Given the description of an element on the screen output the (x, y) to click on. 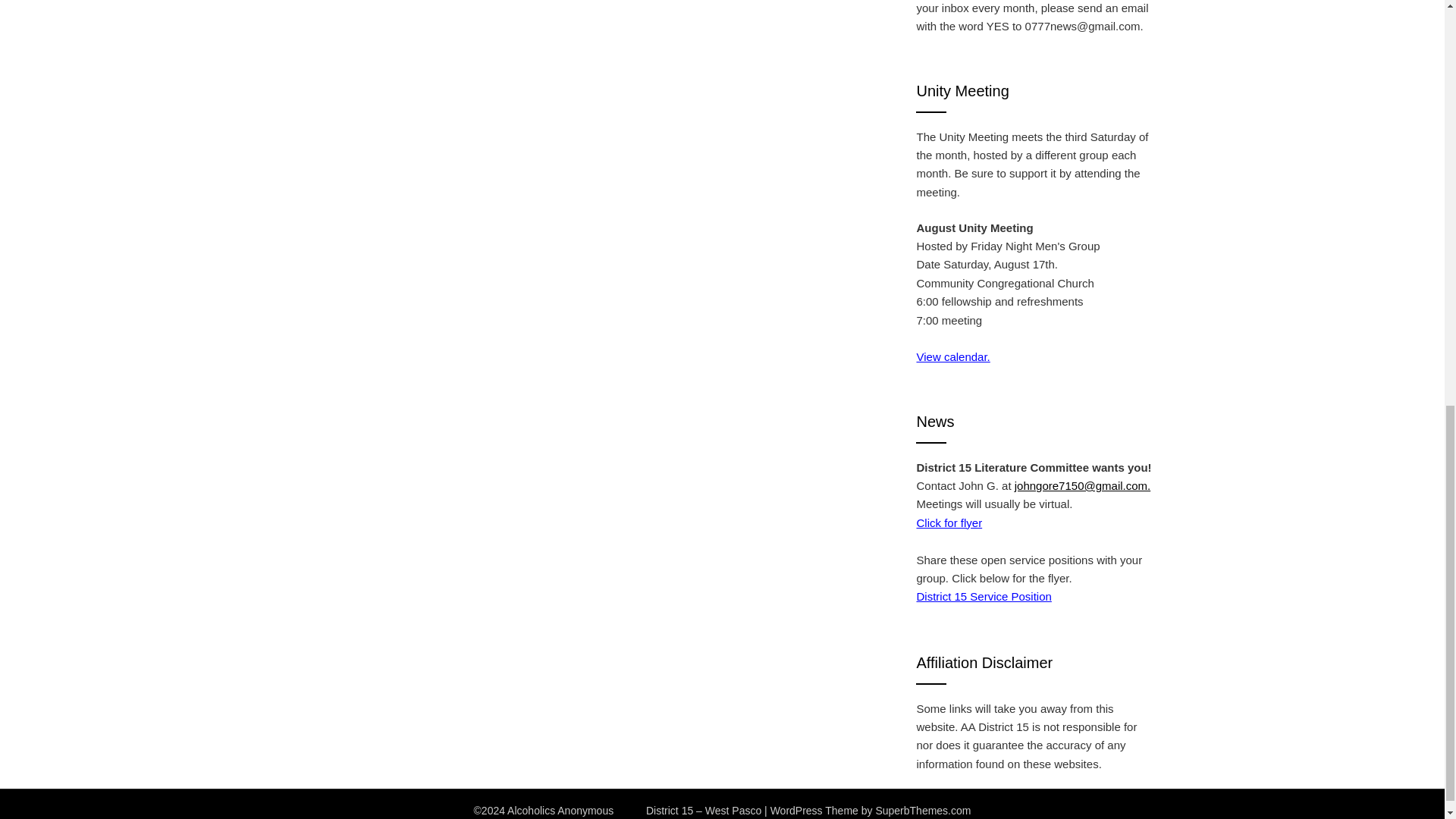
SuperbThemes.com (923, 810)
District 15 Service Position (983, 595)
Click for flyer (948, 522)
View calendar. (952, 356)
